Given the description of an element on the screen output the (x, y) to click on. 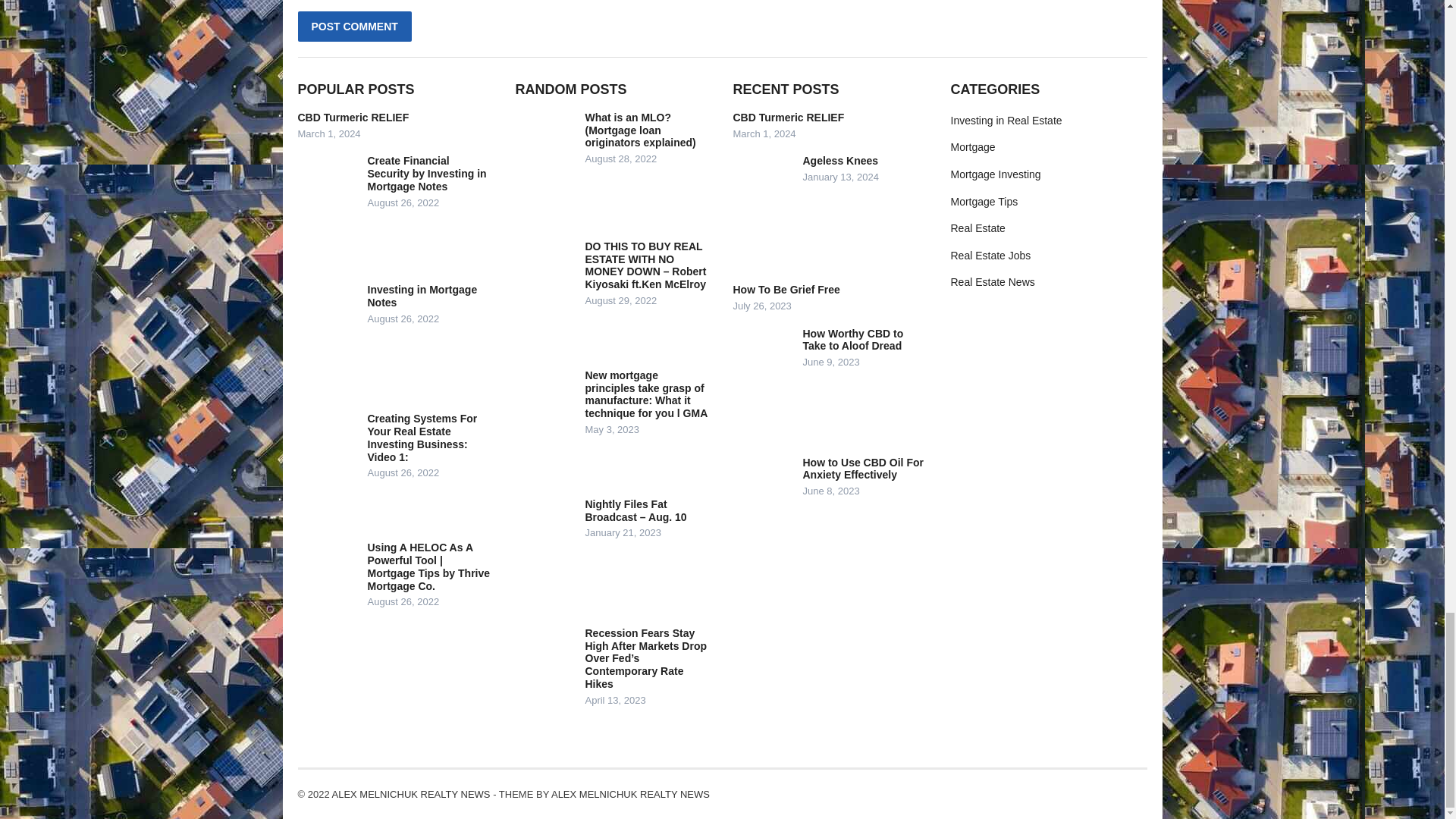
Post Comment (353, 26)
